Given the description of an element on the screen output the (x, y) to click on. 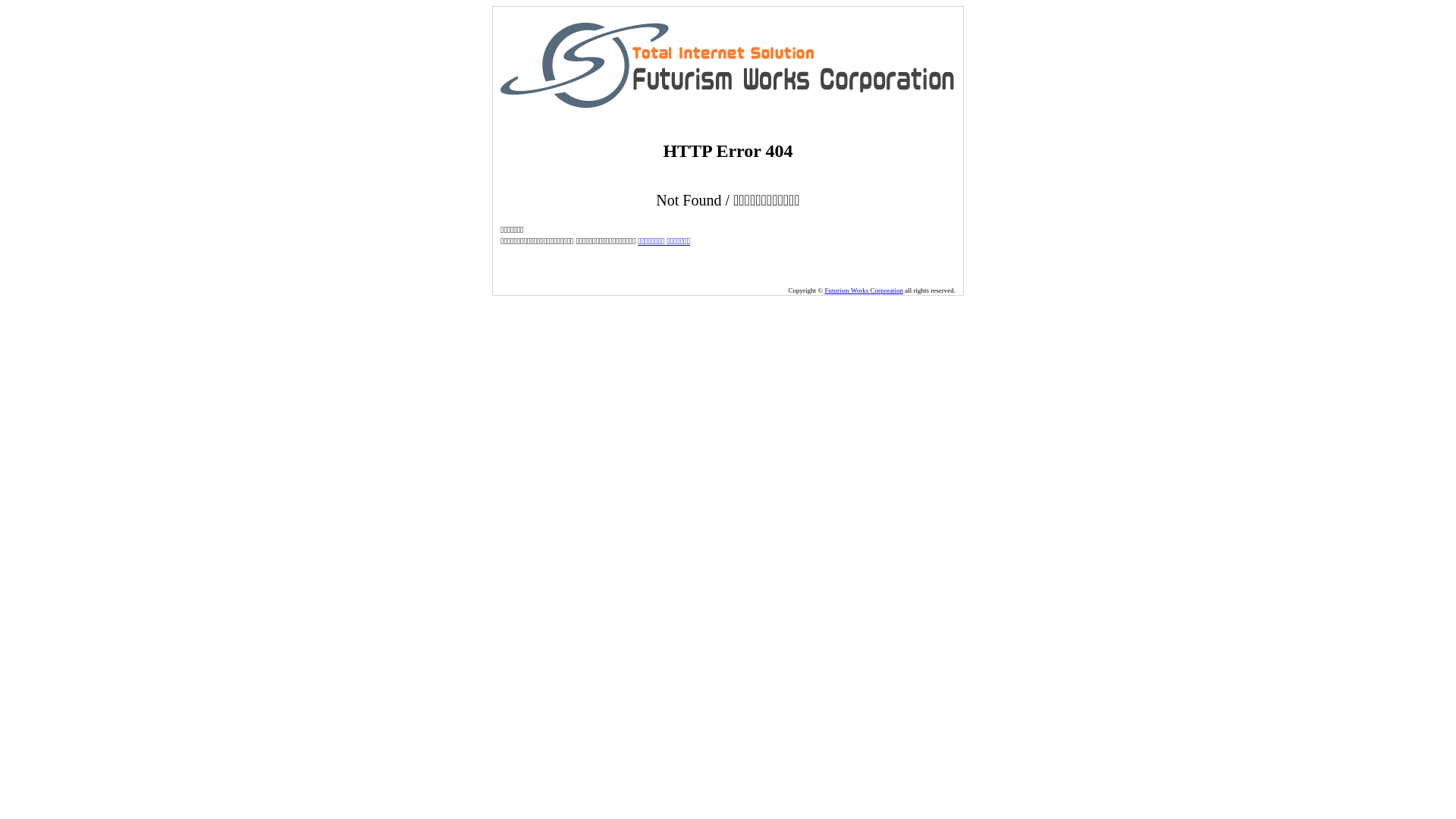
Futurism Works Corporation Element type: text (863, 290)
